Given the description of an element on the screen output the (x, y) to click on. 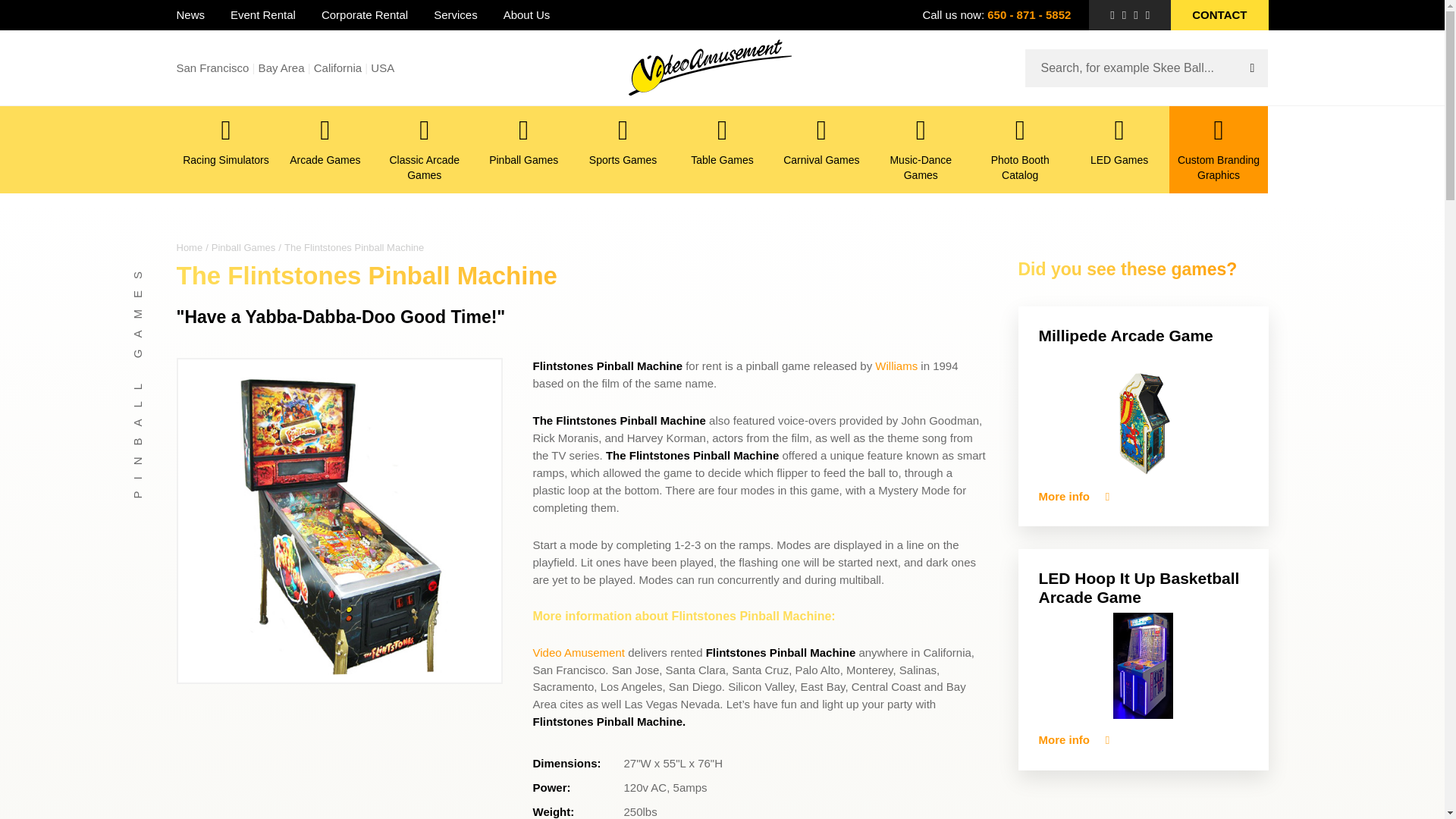
CONTACT (1219, 15)
About Us (526, 15)
Williams (896, 365)
News (190, 15)
Pinball Games (523, 149)
Video Amusement (578, 652)
Corporate Rental (364, 15)
More info (1074, 739)
Home (189, 247)
Custom Branding Graphics (1218, 149)
LED Games (1119, 149)
Event Rental (262, 15)
Pinball Games (243, 247)
Carnival Games (820, 149)
Photo Booth Catalog (1020, 149)
